Given the description of an element on the screen output the (x, y) to click on. 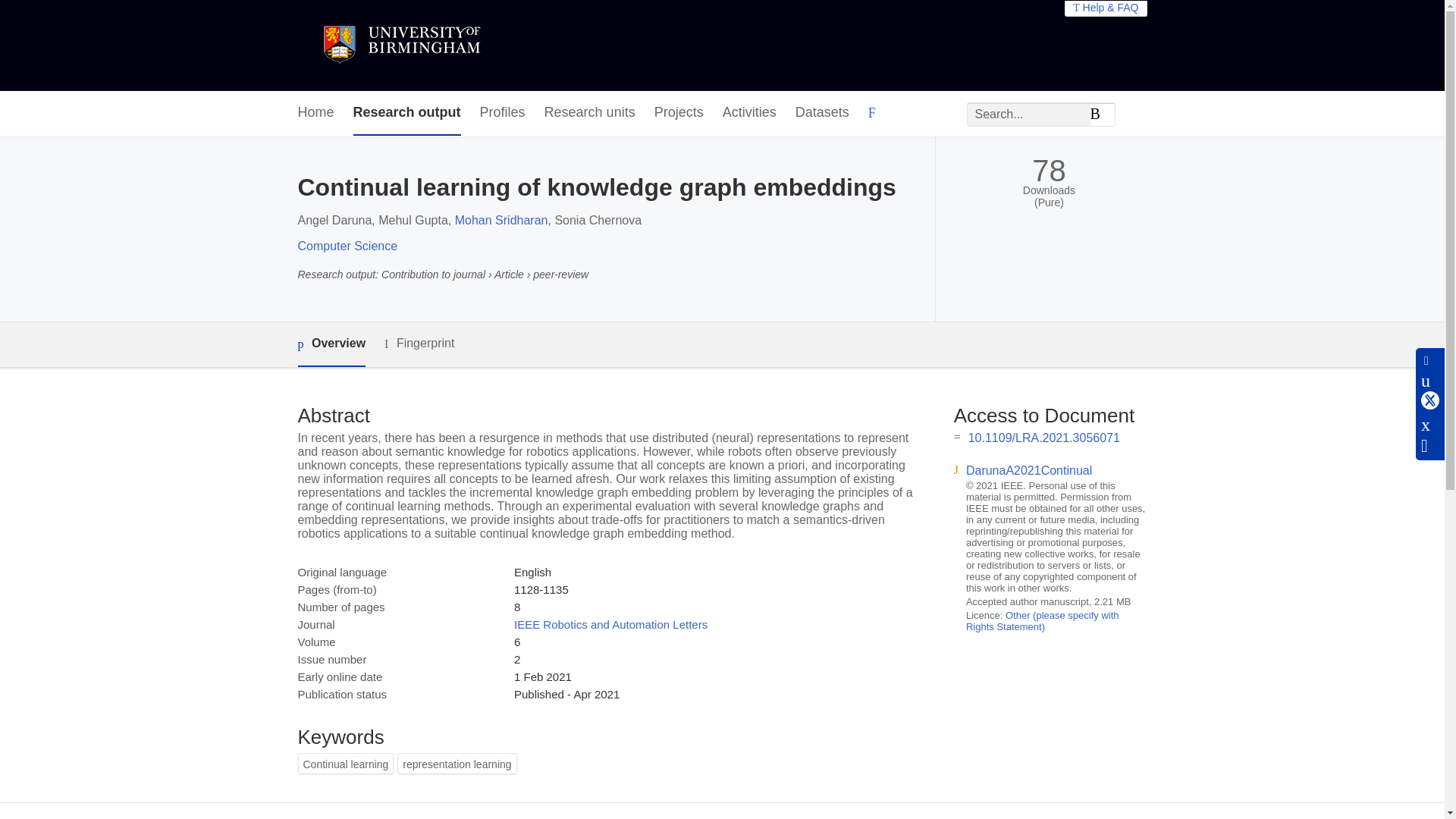
University of Birmingham Home (401, 45)
IEEE Robotics and Automation Letters (610, 624)
Mohan Sridharan (501, 219)
Research units (589, 112)
Fingerprint (419, 343)
Overview (331, 344)
Activities (749, 112)
Research output (407, 112)
Computer Science (347, 245)
